Given the description of an element on the screen output the (x, y) to click on. 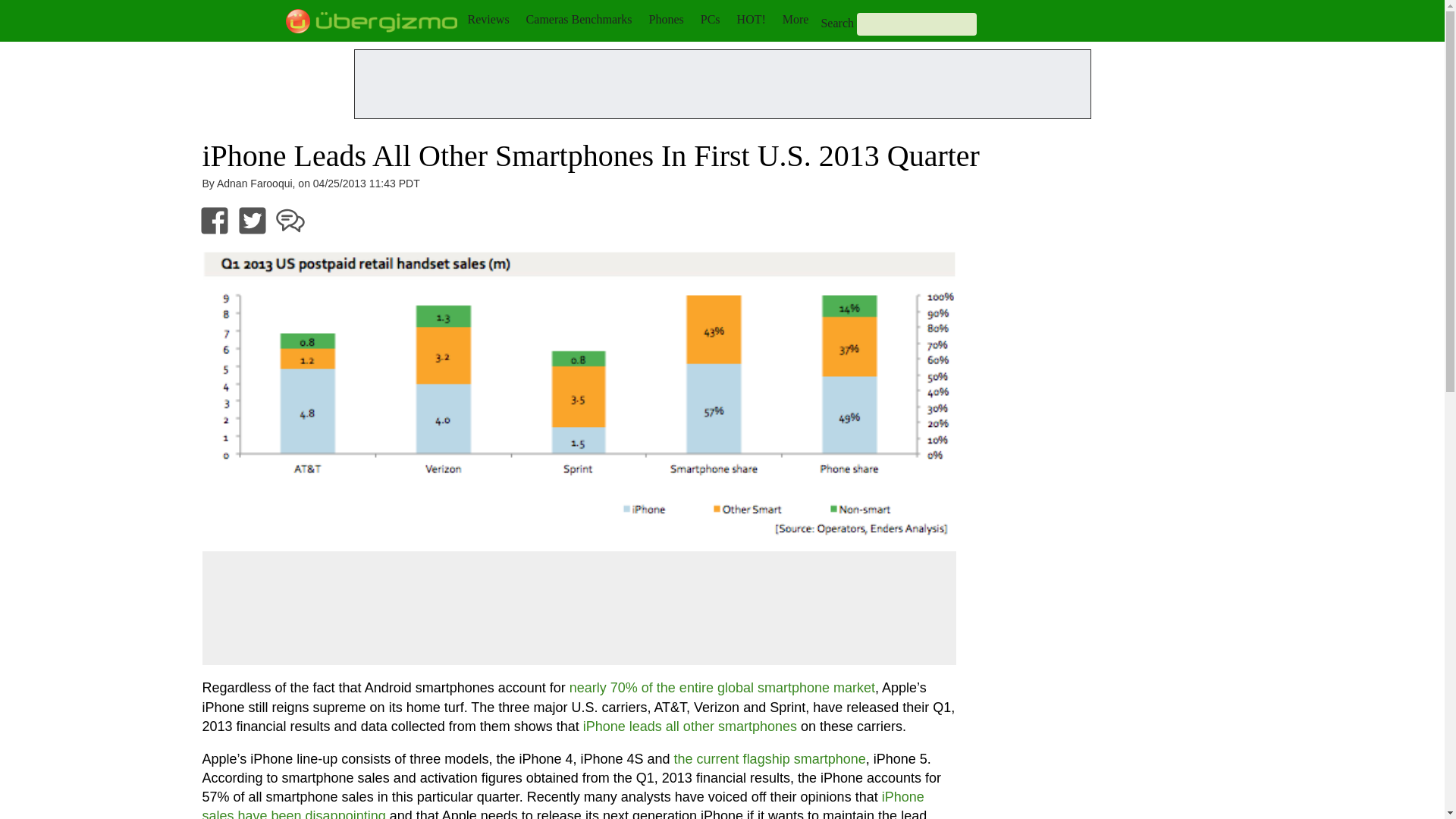
PCs (710, 19)
Reviews (487, 19)
Cameras Benchmarks (578, 19)
Analyst Believes iPhone 5 Sales Have Been Disappointing (562, 804)
Phones (666, 19)
